Given the description of an element on the screen output the (x, y) to click on. 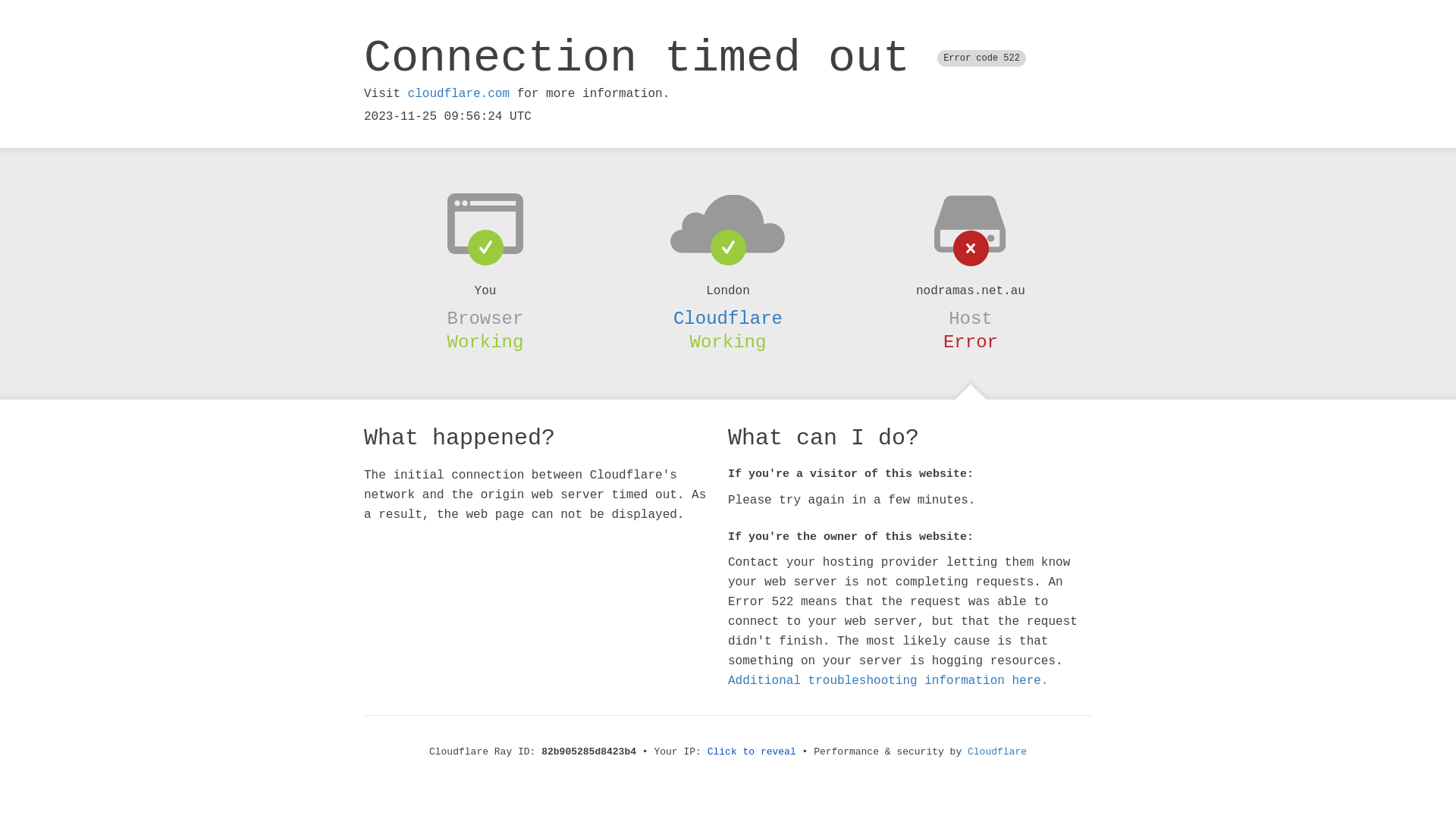
Additional troubleshooting information here. Element type: text (888, 680)
Cloudflare Element type: text (727, 318)
cloudflare.com Element type: text (458, 93)
Cloudflare Element type: text (996, 751)
Click to reveal Element type: text (751, 751)
